Given the description of an element on the screen output the (x, y) to click on. 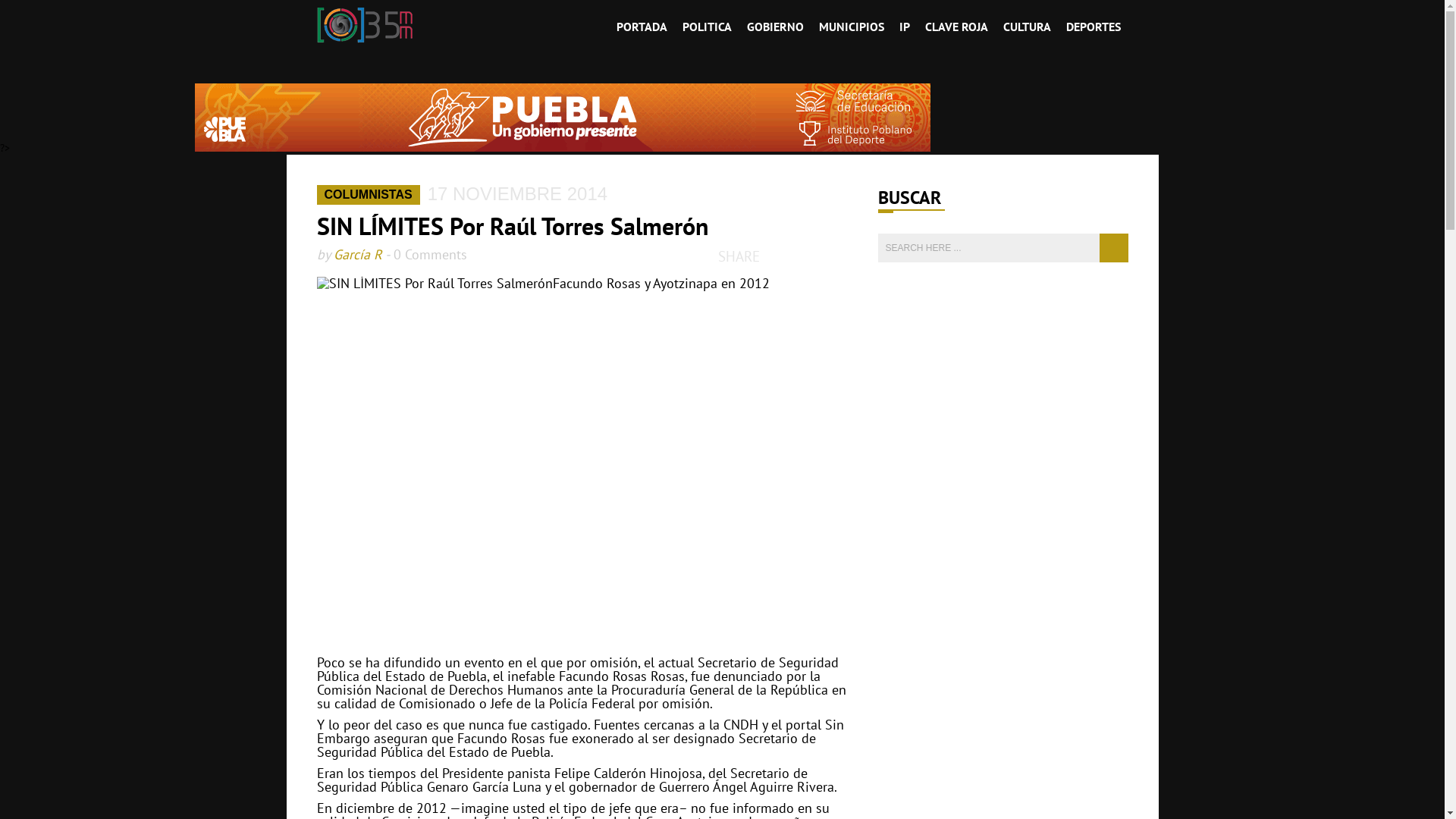
CULTURA Element type: text (1025, 26)
IP Element type: text (904, 26)
MUNICIPIOS Element type: text (851, 26)
CLAVE ROJA Element type: text (956, 26)
DEPORTES Element type: text (1093, 26)
GOBIERNO Element type: text (774, 26)
PORTADA Element type: text (641, 26)
POLITICA Element type: text (706, 26)
